Given the description of an element on the screen output the (x, y) to click on. 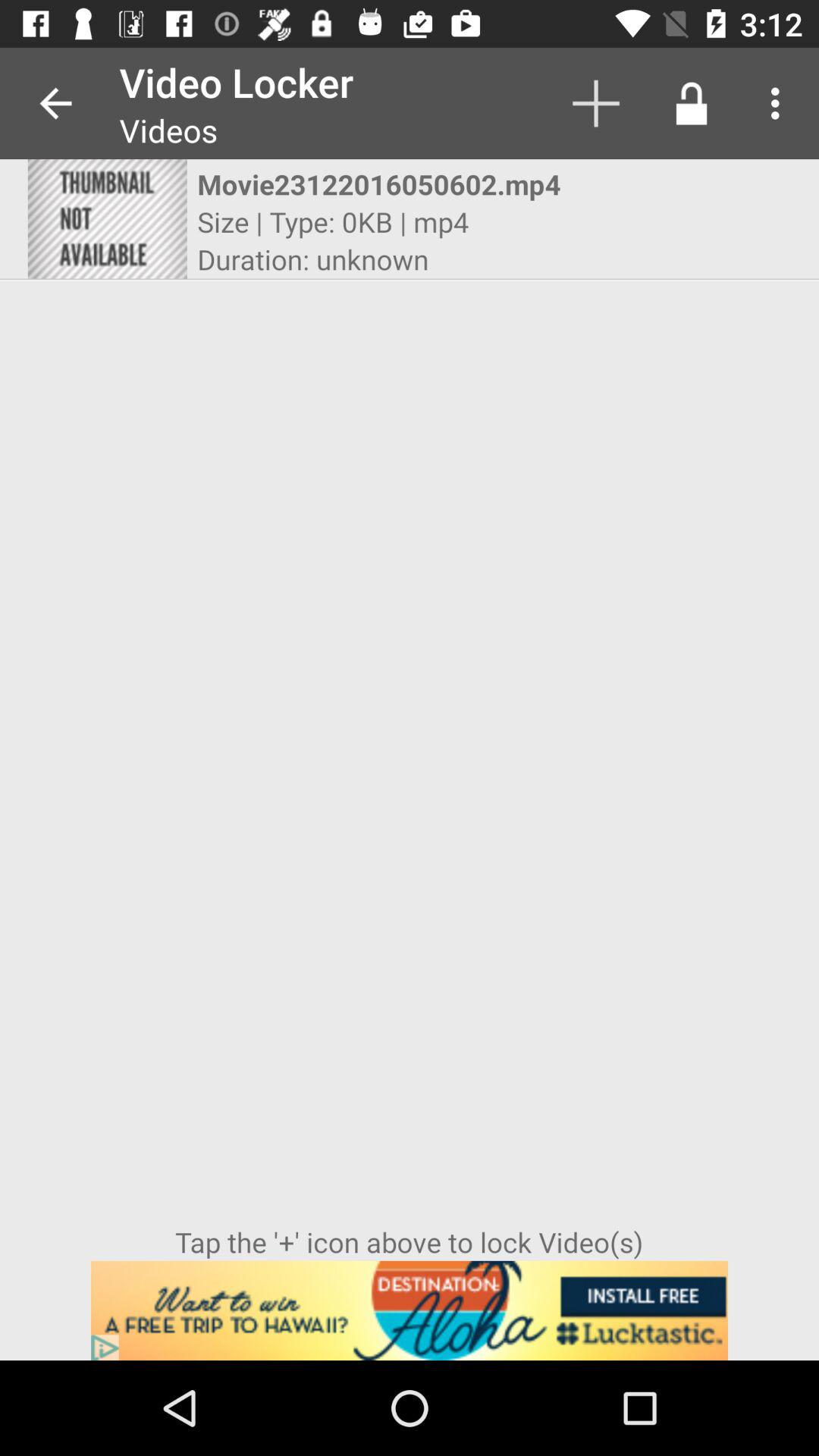
click item below the size type 0kb item (312, 259)
